Given the description of an element on the screen output the (x, y) to click on. 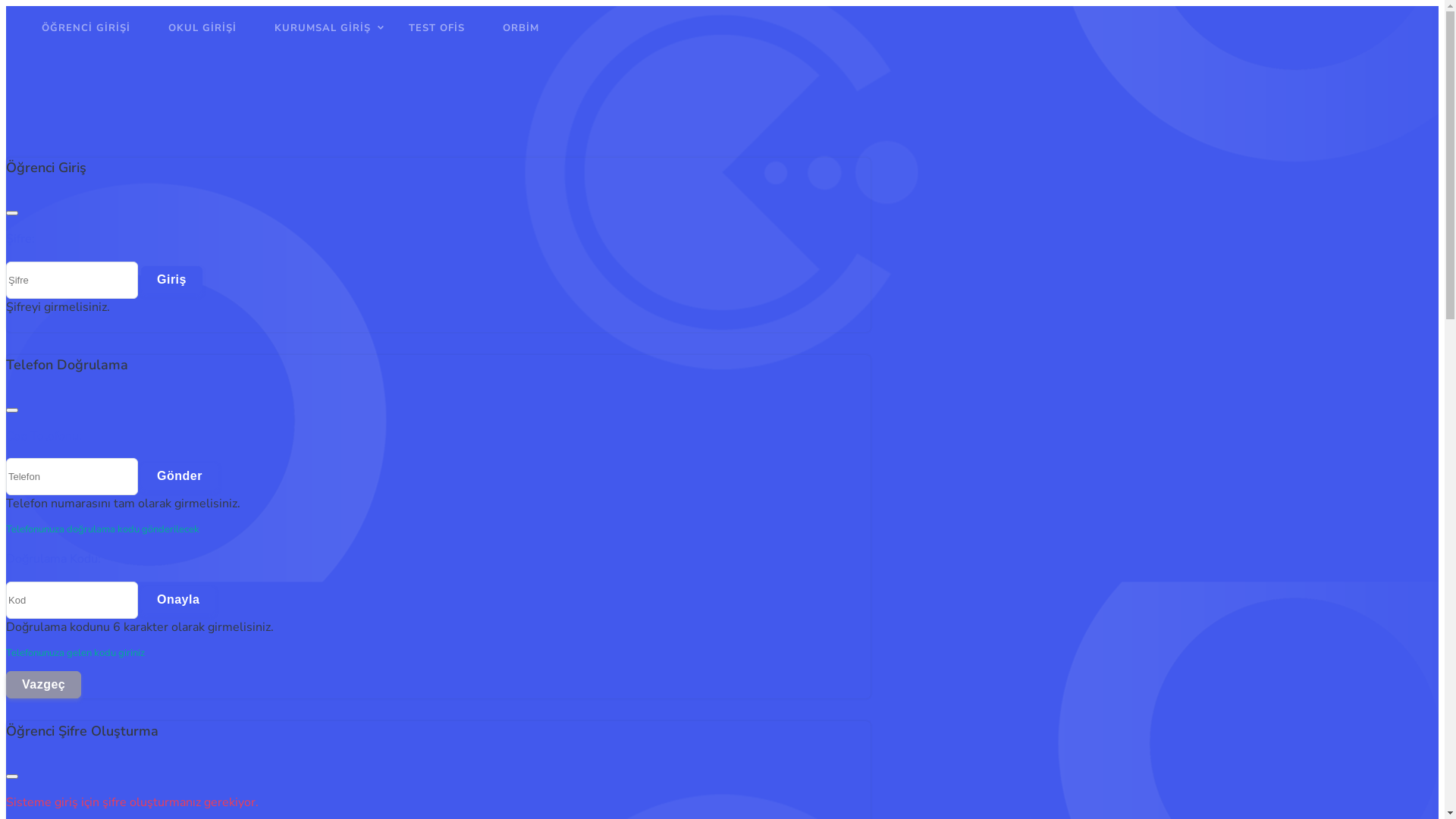
Onayla Element type: text (178, 599)
ORBIM Element type: text (520, 42)
TEST OFIS Element type: text (436, 42)
